Given the description of an element on the screen output the (x, y) to click on. 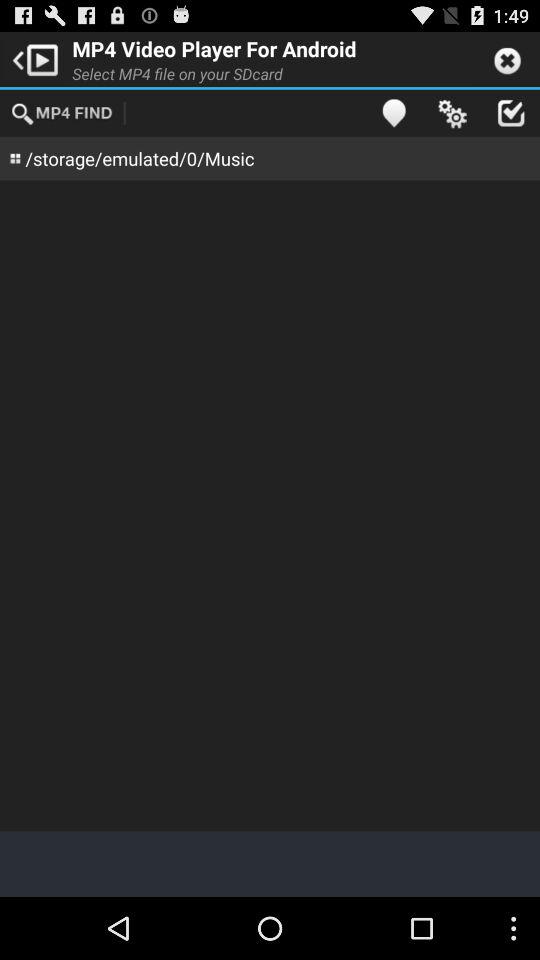
turn off the item below storage emulated 0 (270, 505)
